Given the description of an element on the screen output the (x, y) to click on. 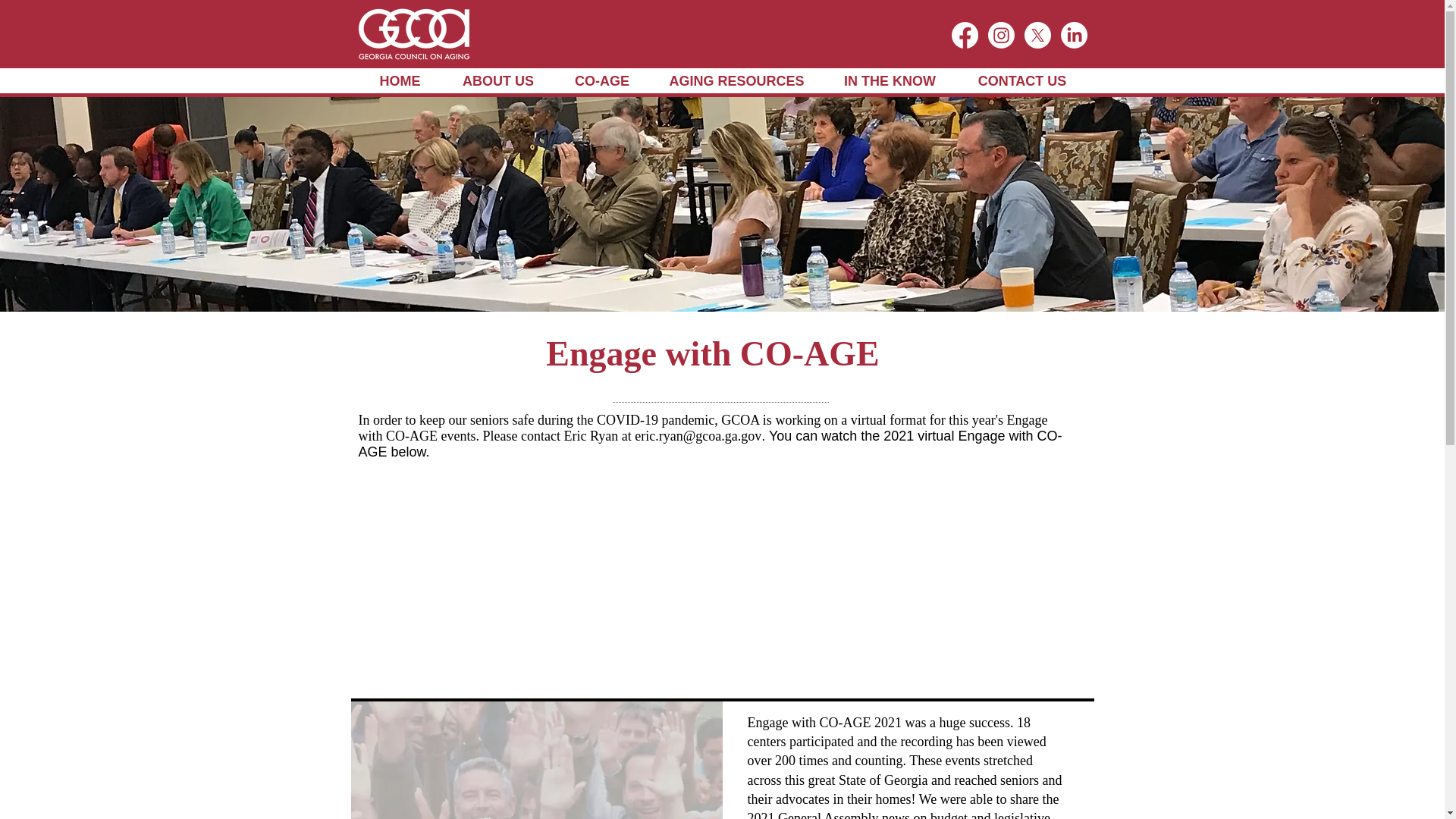
CONTACT US (1021, 81)
AGING RESOURCES (736, 81)
HOME (399, 81)
